Given the description of an element on the screen output the (x, y) to click on. 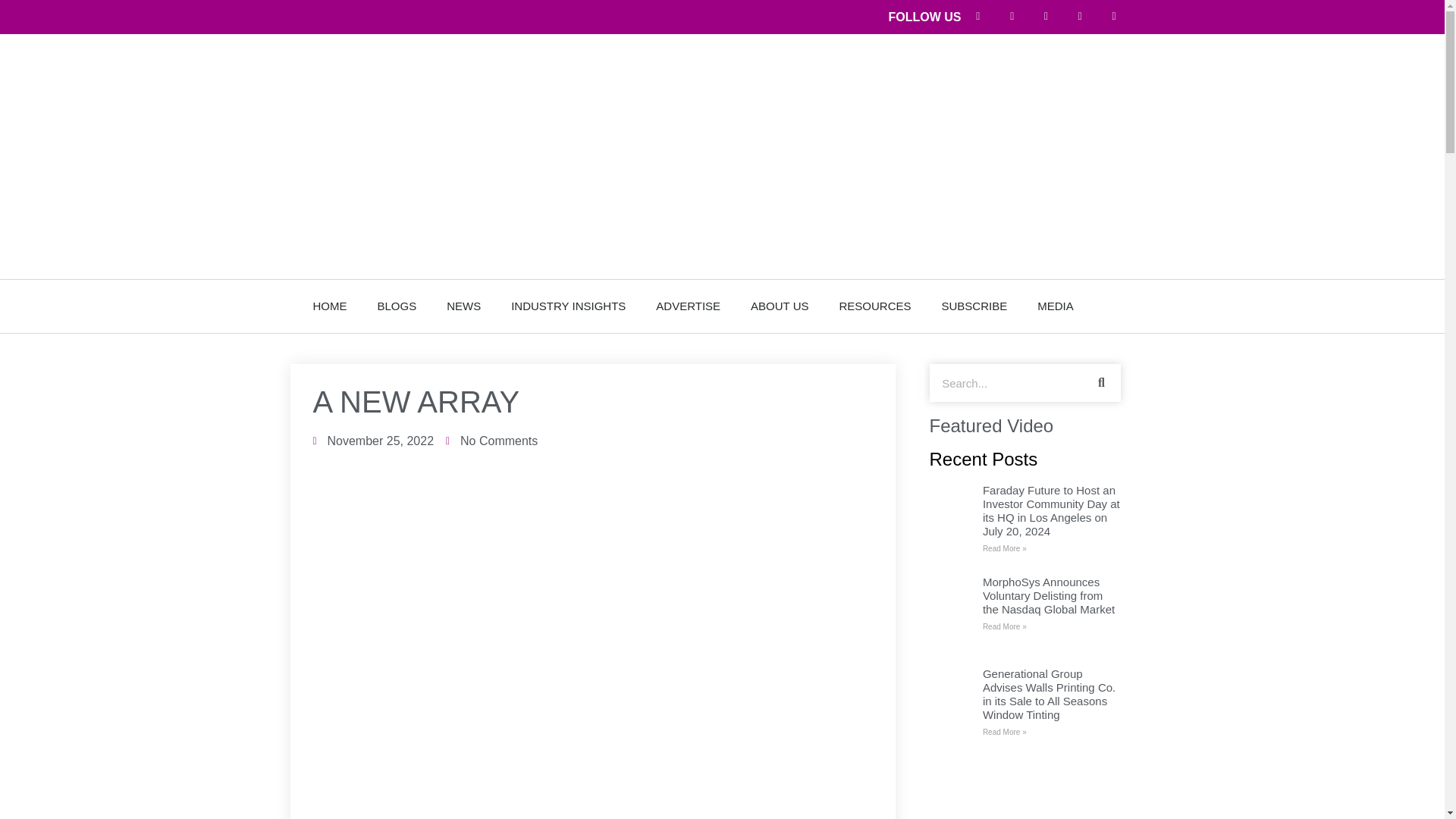
INDUSTRY INSIGHTS (568, 306)
BLOGS (397, 306)
ADVERTISE (687, 306)
HOME (329, 306)
MEDIA (1055, 306)
SUBSCRIBE (974, 306)
RESOURCES (875, 306)
ABOUT US (779, 306)
NEWS (463, 306)
